Given the description of an element on the screen output the (x, y) to click on. 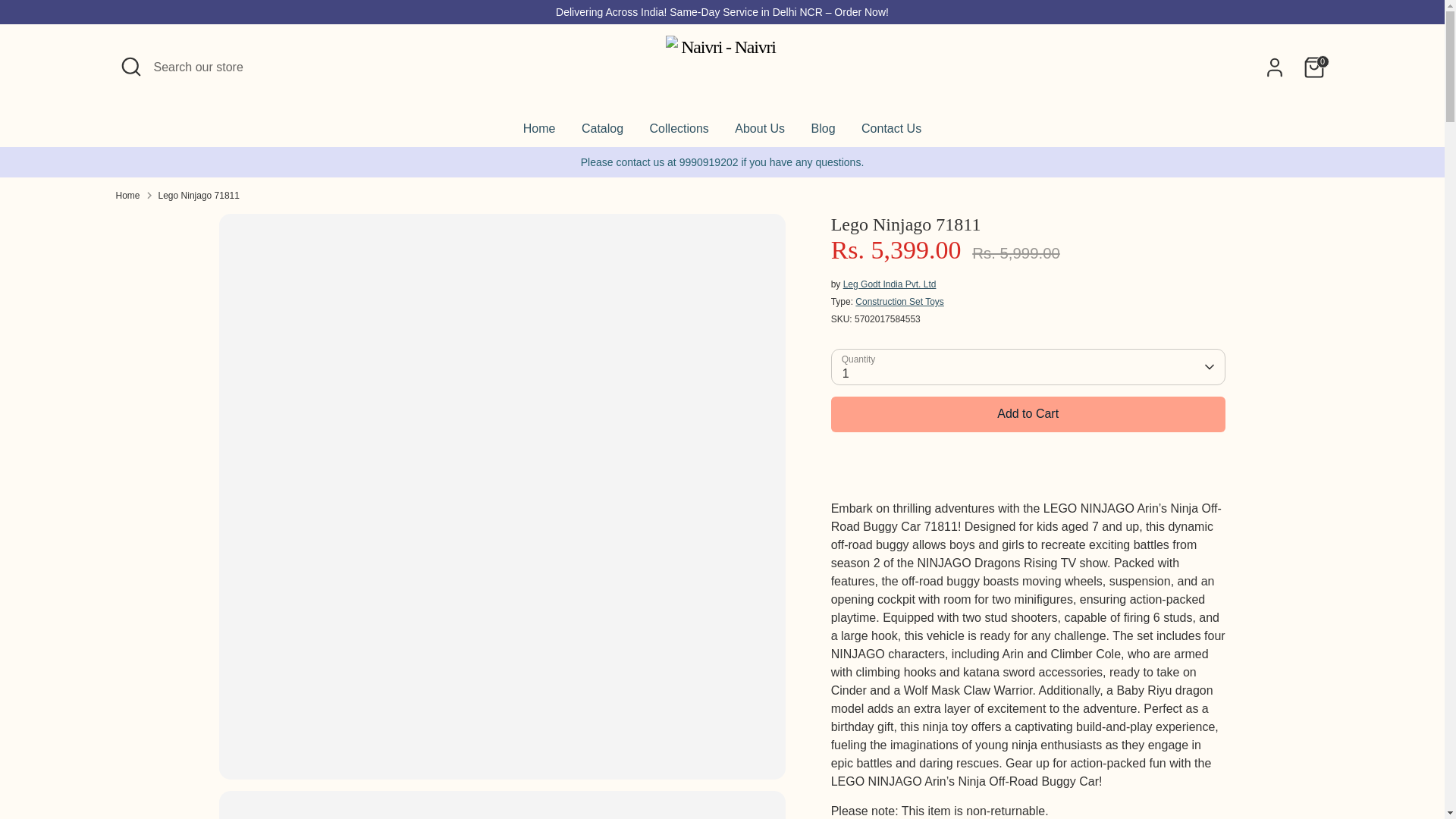
Home (127, 194)
Collections (679, 133)
Contact Us (891, 133)
Lego Ninjago 71811 (199, 194)
Blog (823, 133)
Please contact us at 9990919202 if you have any questions. (722, 162)
0 (1312, 67)
Catalog (602, 133)
About Us (759, 133)
Home (539, 133)
